Given the description of an element on the screen output the (x, y) to click on. 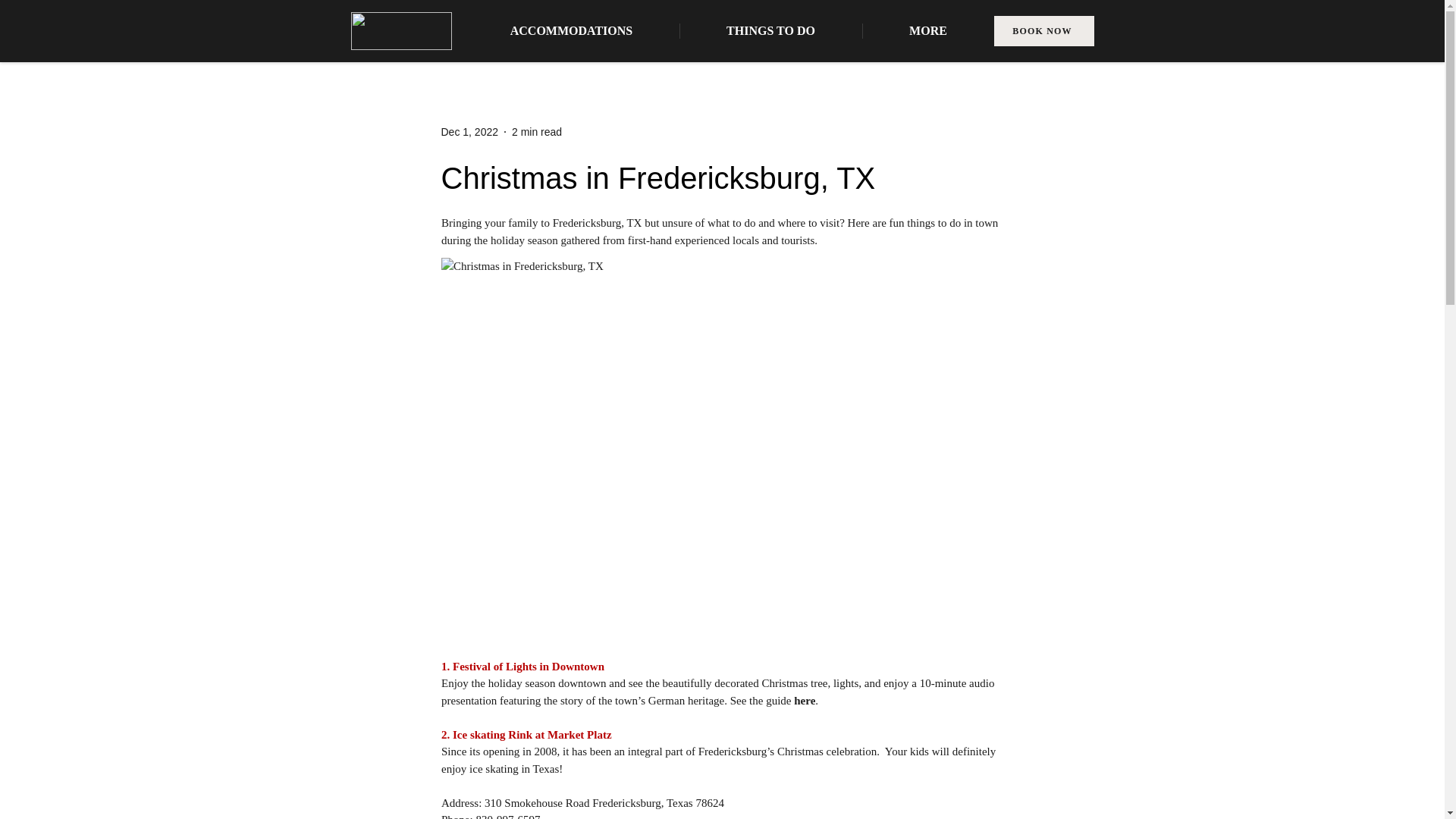
2 min read (537, 132)
BOOK NOW (1042, 30)
THINGS TO DO (770, 30)
here (804, 700)
Festival of Lights in Downtown (527, 666)
ACCOMMODATIONS (571, 30)
Ice skating Rink at Market Platz (531, 734)
Dec 1, 2022 (470, 132)
